Given the description of an element on the screen output the (x, y) to click on. 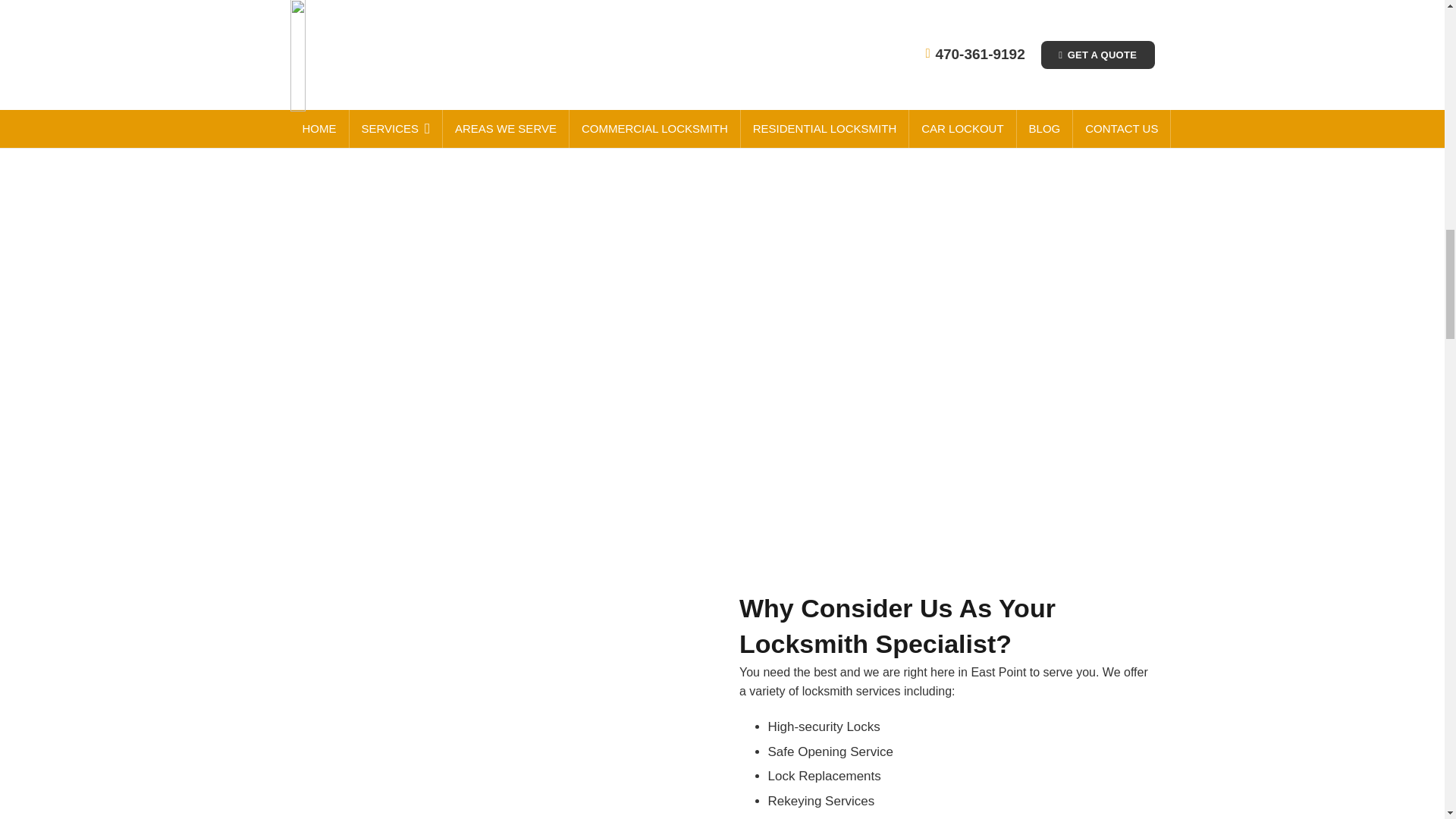
Residential Locksmith (976, 2)
Residential Locksmith (526, 2)
